Given the description of an element on the screen output the (x, y) to click on. 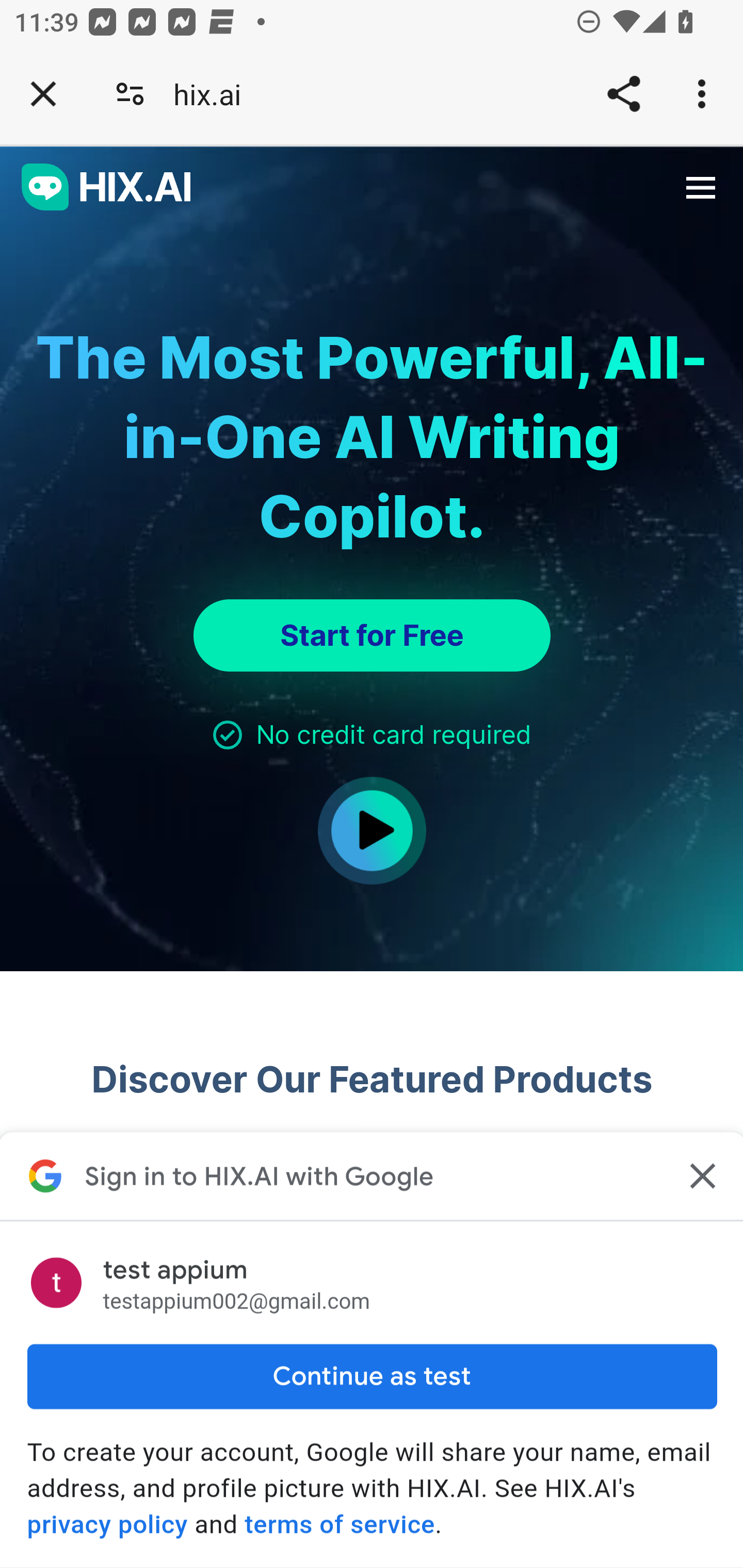
Close tab (43, 93)
Share (623, 93)
Customize and control Google Chrome (705, 93)
Connection is secure (129, 93)
hix.ai (214, 93)
hix (107, 188)
Start for Free (371, 634)
Close (700, 1175)
Continue as test (371, 1376)
privacy policy (107, 1523)
terms of service (339, 1523)
